Given the description of an element on the screen output the (x, y) to click on. 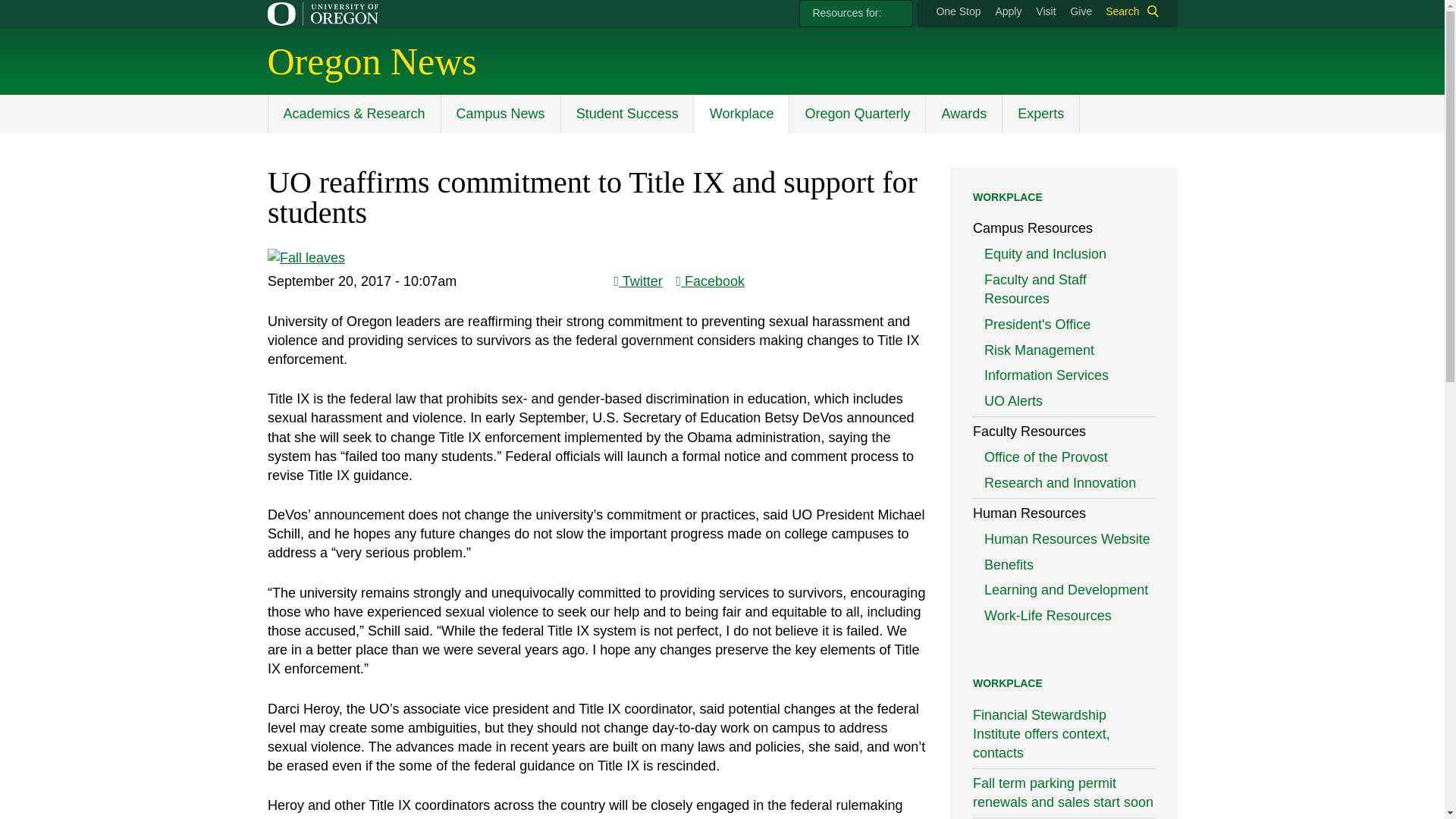
Apply (1008, 10)
Fall leaves (304, 257)
Give (1081, 10)
Visit (1045, 10)
Search (1128, 11)
Resources for: (855, 13)
One Stop (957, 10)
Oregon NewsHome (371, 61)
